Given the description of an element on the screen output the (x, y) to click on. 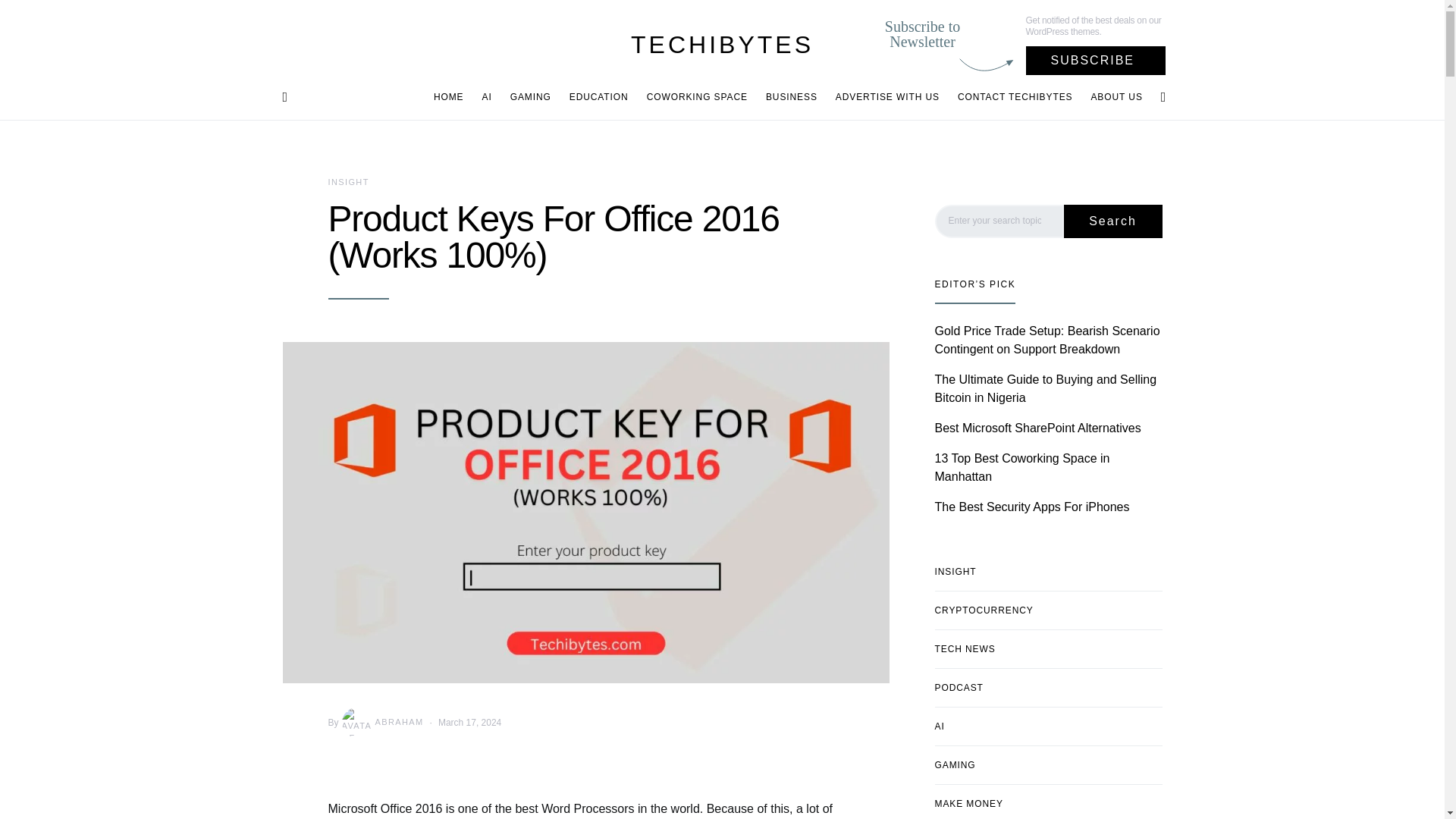
GAMING (530, 96)
BUSINESS (792, 96)
COWORKING SPACE (697, 96)
ADVERTISE WITH US (888, 96)
View all posts by Abraham (381, 722)
TECHIBYTES (721, 44)
INSIGHT (347, 181)
CONTACT TECHIBYTES (1015, 96)
EDUCATION (598, 96)
ABOUT US (1111, 96)
ABRAHAM (381, 722)
SUBSCRIBE (1096, 60)
